Given the description of an element on the screen output the (x, y) to click on. 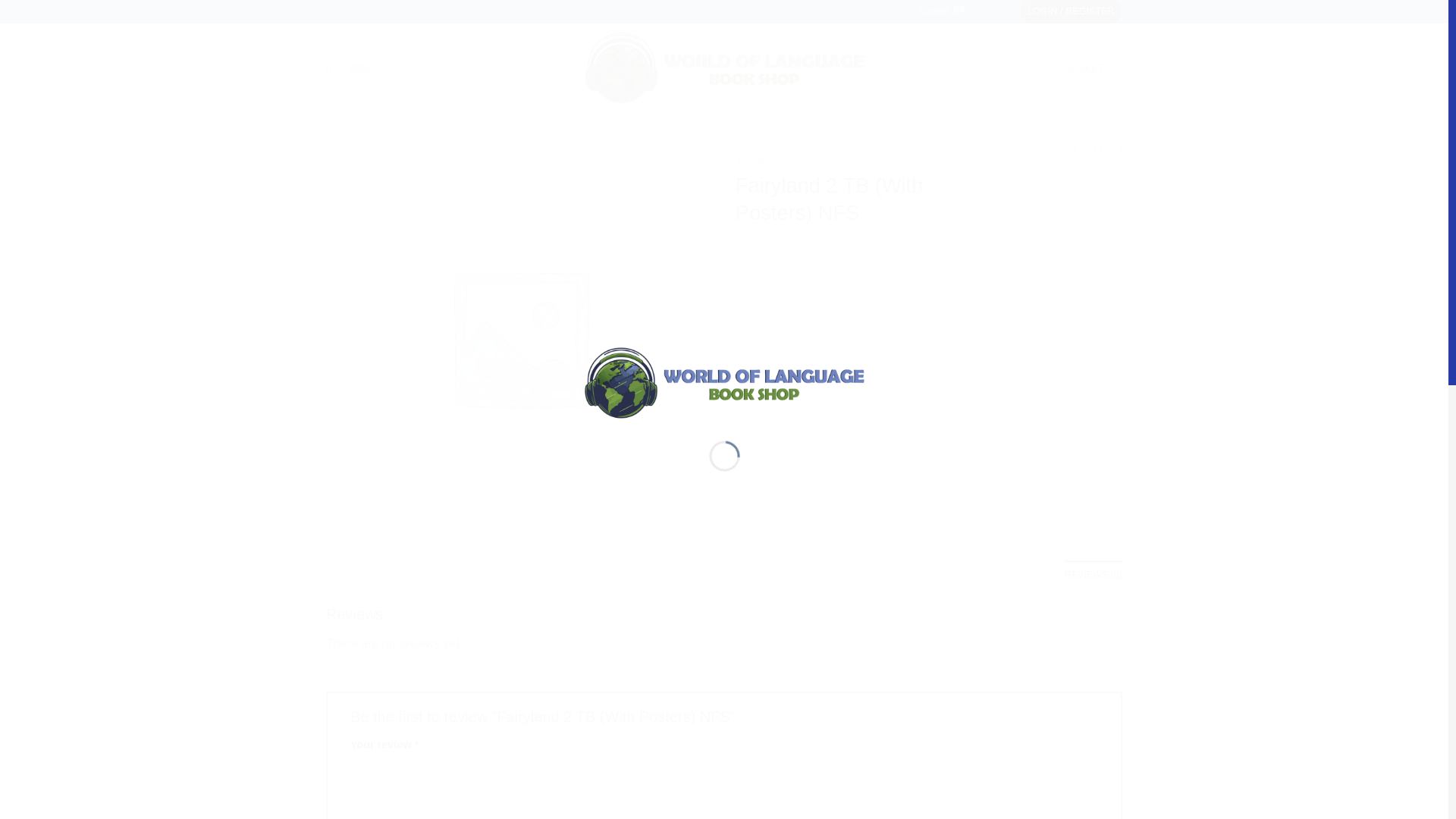
Zoom (349, 507)
ForeignBookinMongolia (723, 67)
Basket (1093, 68)
ForeignBookinMongolia (723, 381)
English (946, 11)
MENU (350, 67)
BASKET (1093, 68)
